Given the description of an element on the screen output the (x, y) to click on. 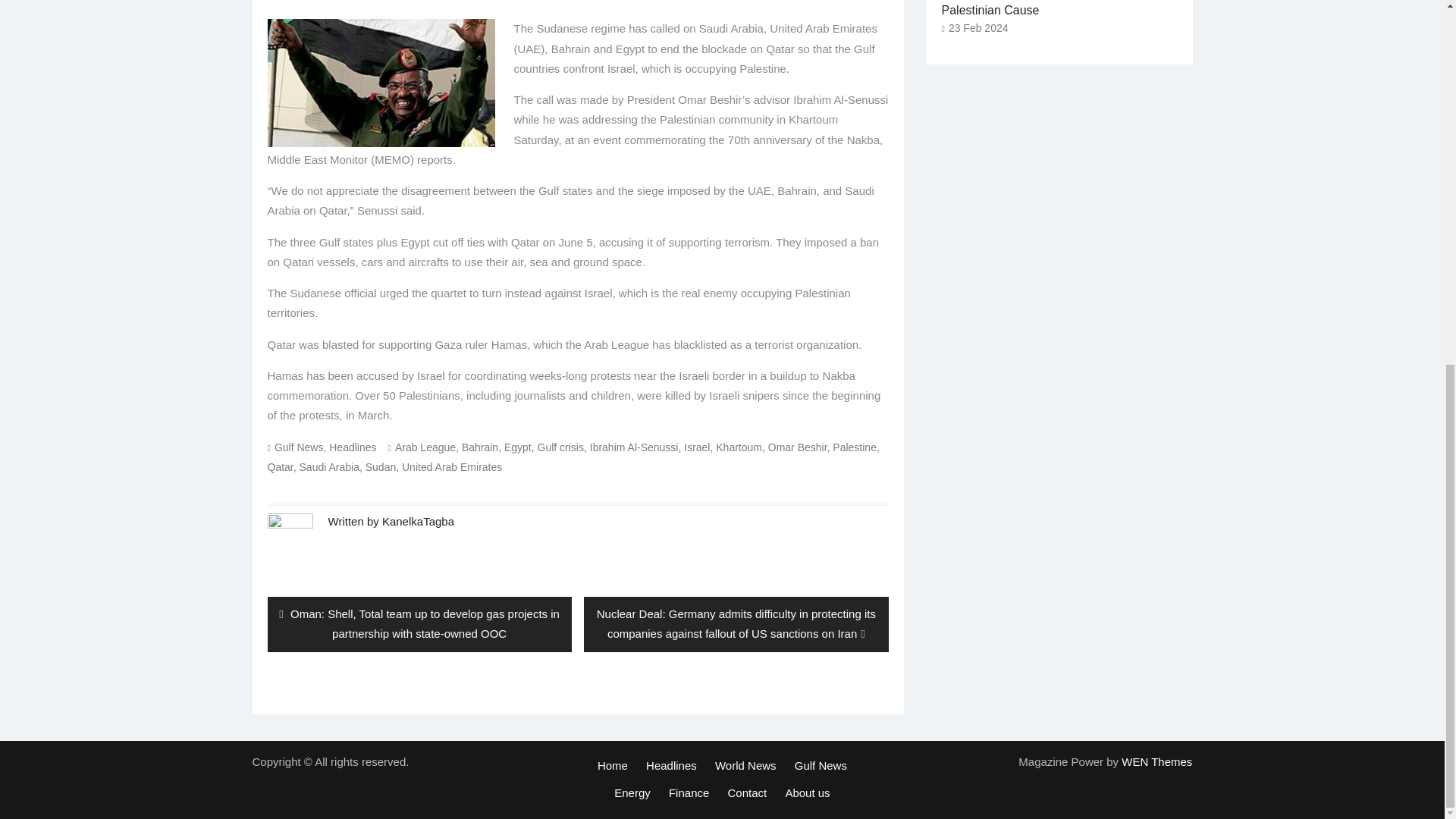
Israel (697, 447)
Headlines (352, 447)
Khartoum (738, 447)
Bahrain (479, 447)
Posts by KanelkaTagba (417, 521)
Palestine (854, 447)
Qatar (279, 467)
Gulf News (299, 447)
Omar Beshir (797, 447)
Ibrahim Al-Senussi (633, 447)
